Given the description of an element on the screen output the (x, y) to click on. 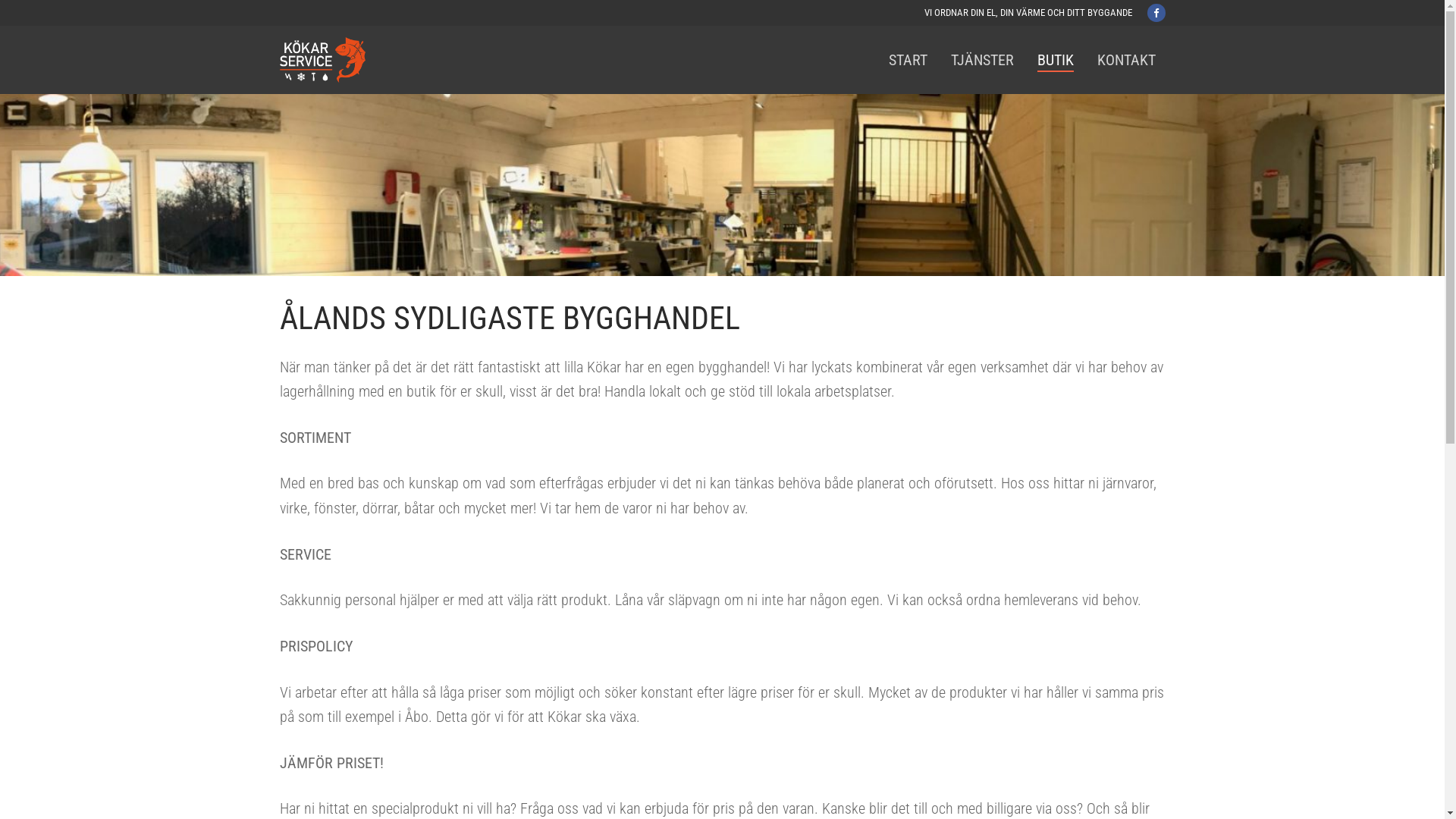
START Element type: text (907, 59)
Facebook Element type: hover (1156, 12)
KONTAKT Element type: text (1126, 59)
BUTIK Element type: text (1054, 59)
